Given the description of an element on the screen output the (x, y) to click on. 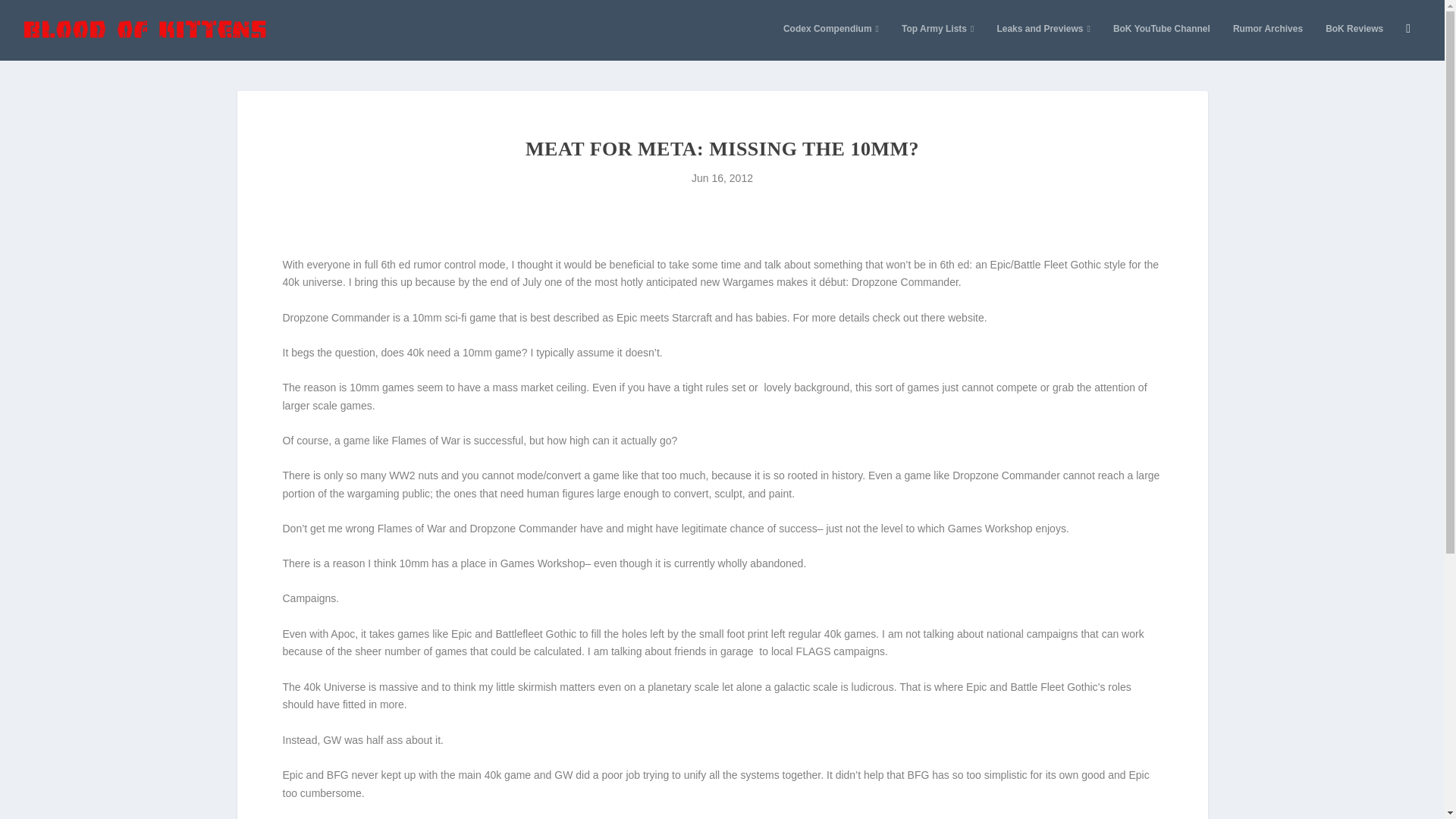
Codex Compendium (831, 41)
BoK Reviews (1353, 41)
Top Army Lists (937, 41)
Leaks and Previews (1042, 41)
BoK YouTube Channel (1161, 41)
Rumor Archives (1268, 41)
